Given the description of an element on the screen output the (x, y) to click on. 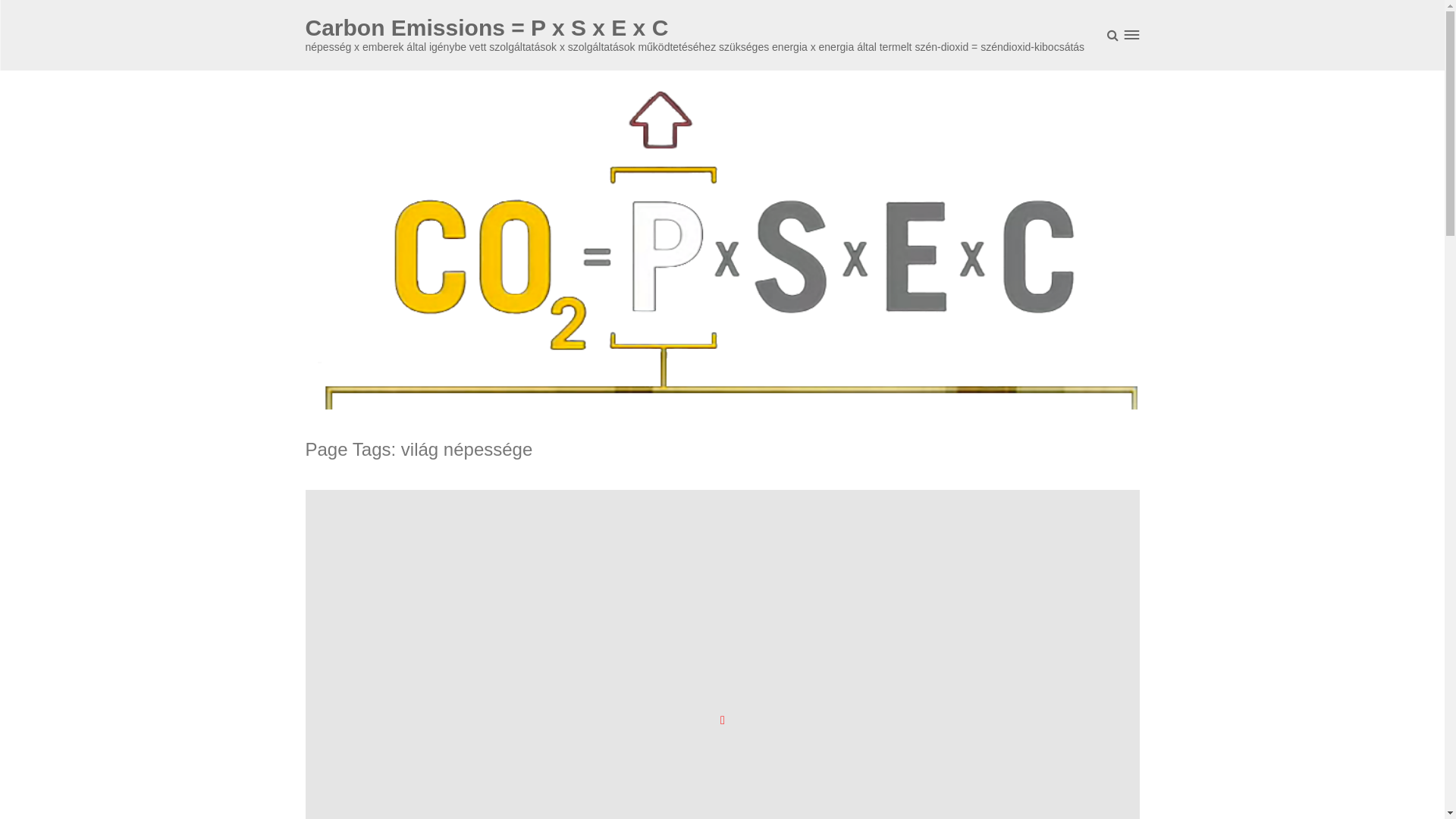
toggle menu Element type: text (1131, 34)
Carbon Emissions = P x S x E x C Element type: text (486, 27)
